Given the description of an element on the screen output the (x, y) to click on. 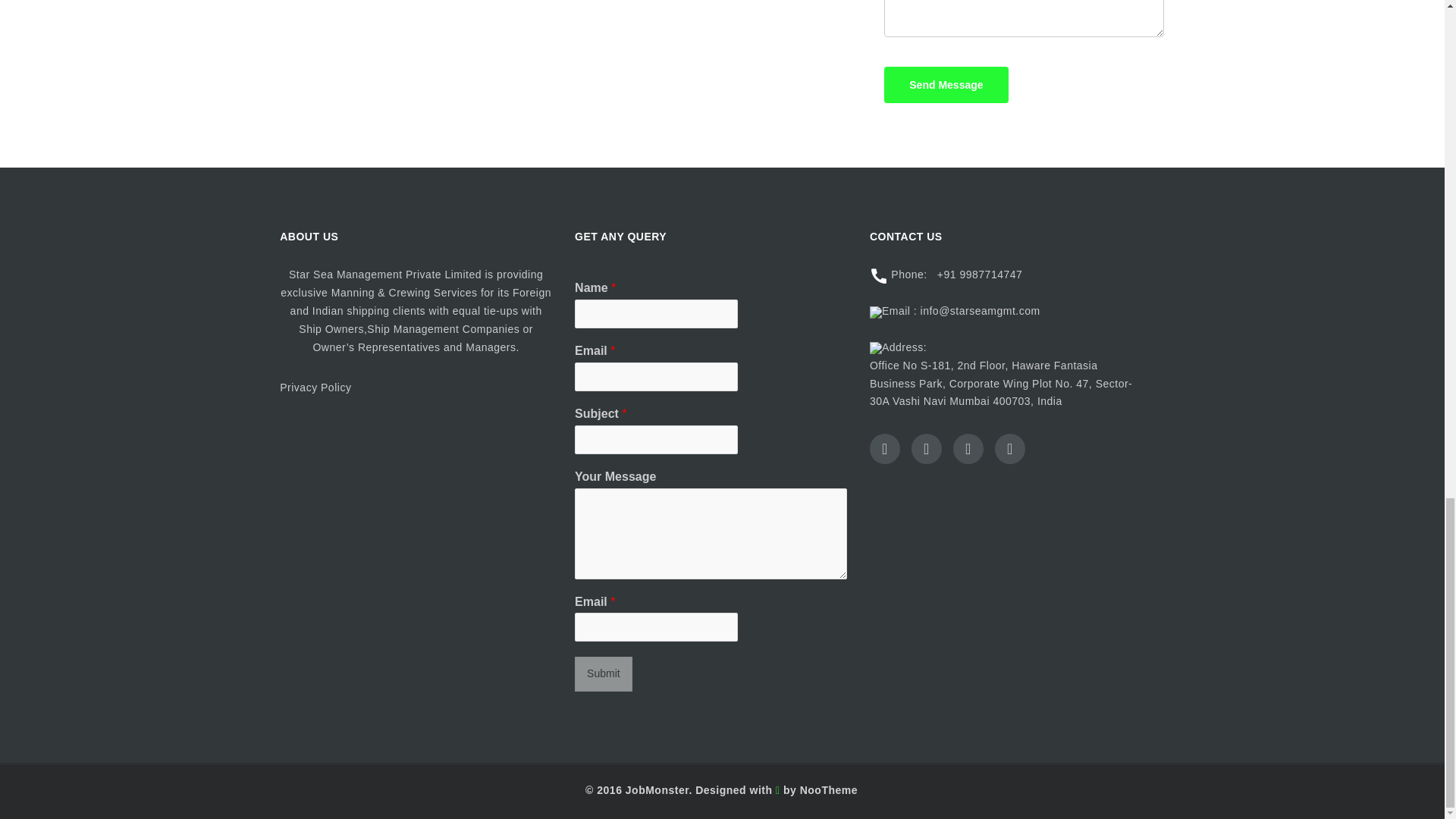
Send Message (945, 84)
